Given the description of an element on the screen output the (x, y) to click on. 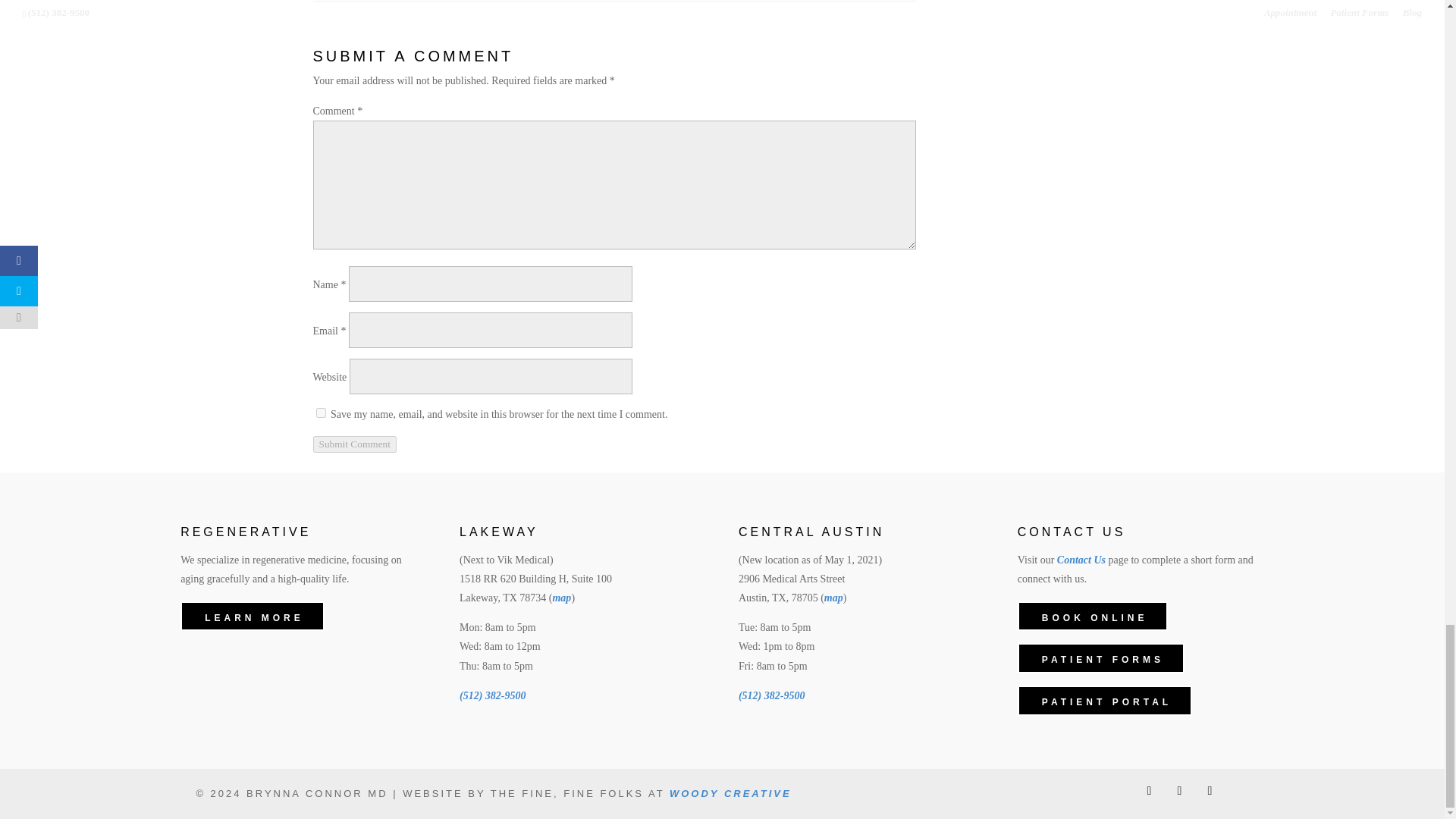
Follow on X (1148, 790)
Follow on Instagram (1208, 790)
LEARN MORE (252, 615)
yes (319, 412)
Follow on LinkedIn (1179, 790)
Submit Comment (354, 443)
